Given the description of an element on the screen output the (x, y) to click on. 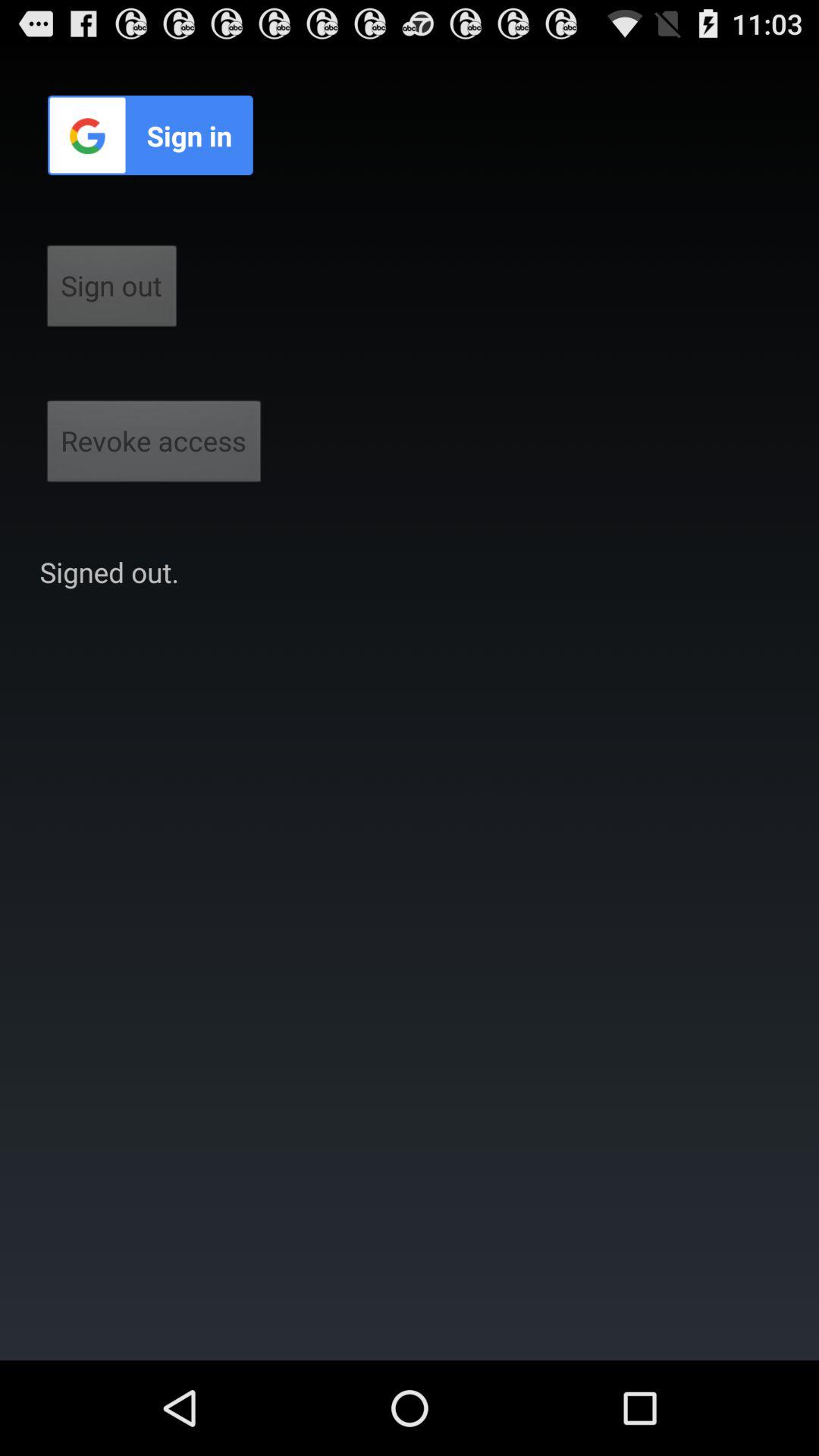
click the icon above the revoke access item (111, 290)
